Given the description of an element on the screen output the (x, y) to click on. 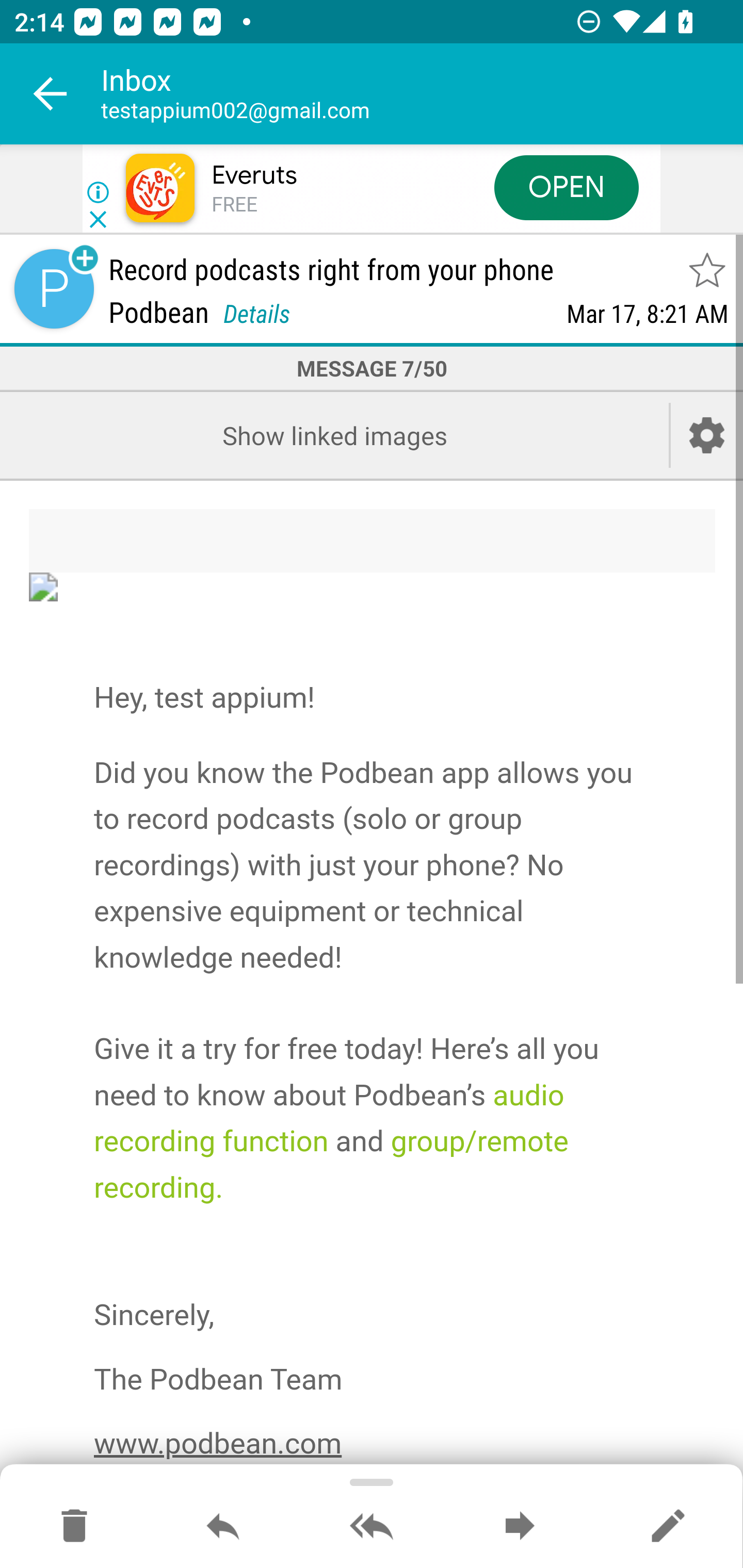
Navigate up (50, 93)
Inbox testappium002@gmail.com (422, 93)
OPEN (566, 187)
Everuts (253, 175)
FREE (234, 204)
Sender contact button (53, 289)
Show linked images (334, 435)
Account setup (706, 435)
data: (372, 586)
audio recording function (328, 1117)
group/remote recording. (330, 1163)
www.podbean.com (218, 1444)
Move to Deleted (74, 1527)
Reply (222, 1527)
Reply all (371, 1527)
Forward (519, 1527)
Reply as new (667, 1527)
